Given the description of an element on the screen output the (x, y) to click on. 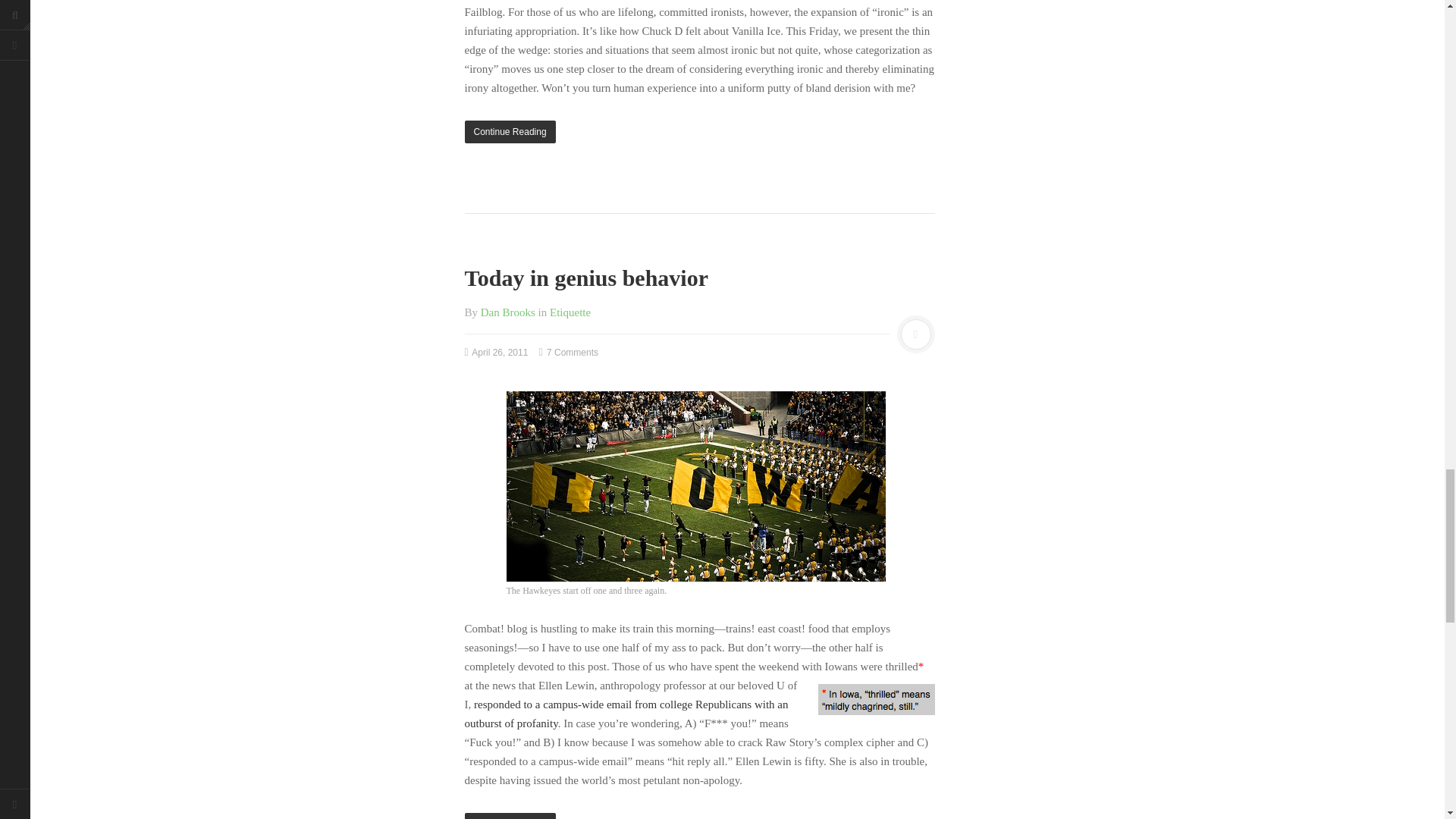
Dan Brooks (507, 312)
Continue Reading (699, 131)
Etiquette (570, 312)
April 26, 2011 (495, 352)
Screen shot 2011-04-26 at 6.43.44 AM (875, 698)
Today in genius behavior (585, 277)
View all posts by Dan Brooks (507, 312)
Iowa (695, 486)
7 Comments (568, 352)
9:24 am (495, 352)
